Given the description of an element on the screen output the (x, y) to click on. 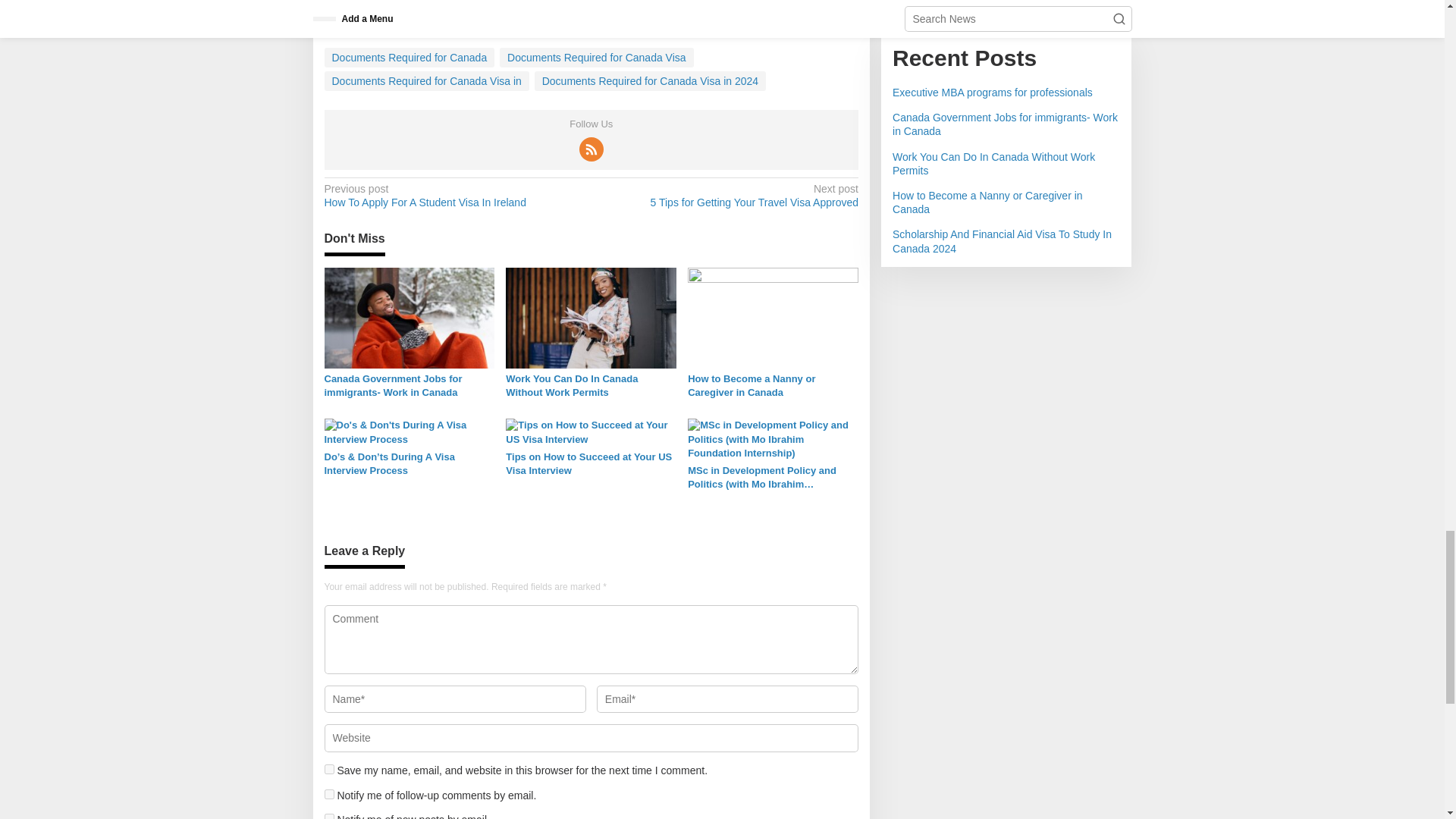
subscribe (329, 794)
RSS (591, 149)
Documents Required for Canada (409, 57)
Documents Required for Canada Visa (596, 57)
subscribe (329, 816)
yes (329, 768)
